Given the description of an element on the screen output the (x, y) to click on. 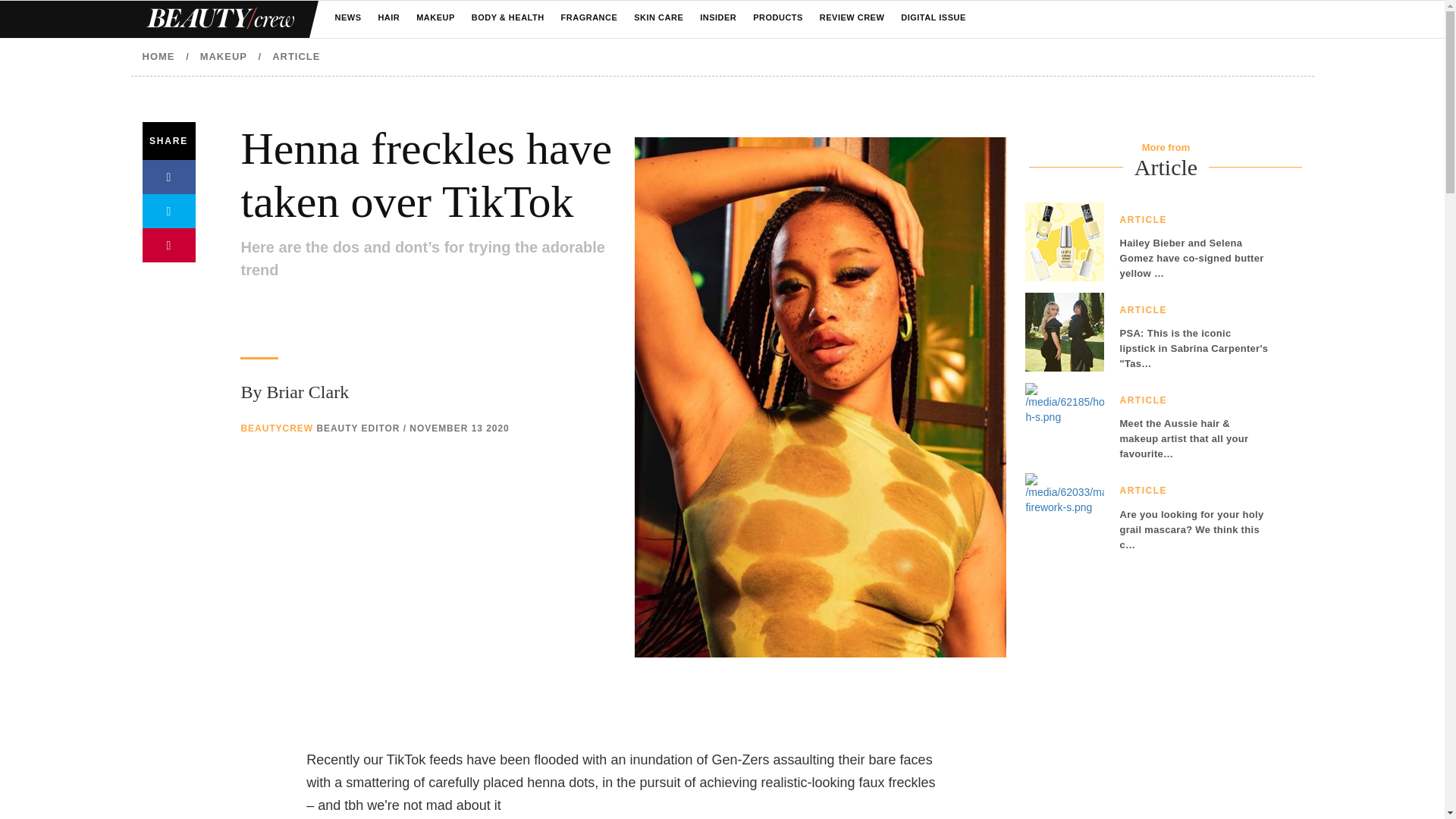
Home (218, 18)
MAKEUP (435, 18)
HAIR (387, 18)
NEWS (347, 18)
